Given the description of an element on the screen output the (x, y) to click on. 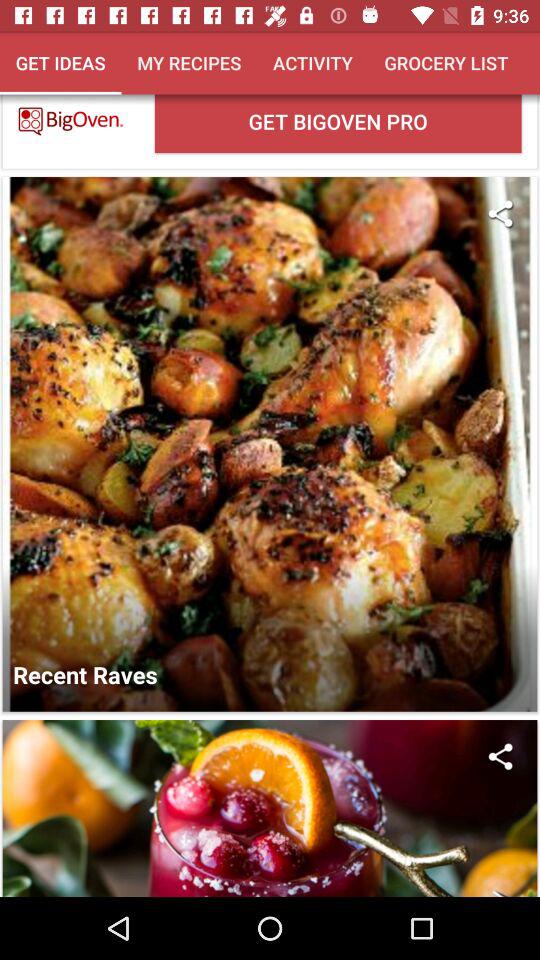
share the the image (500, 756)
